Given the description of an element on the screen output the (x, y) to click on. 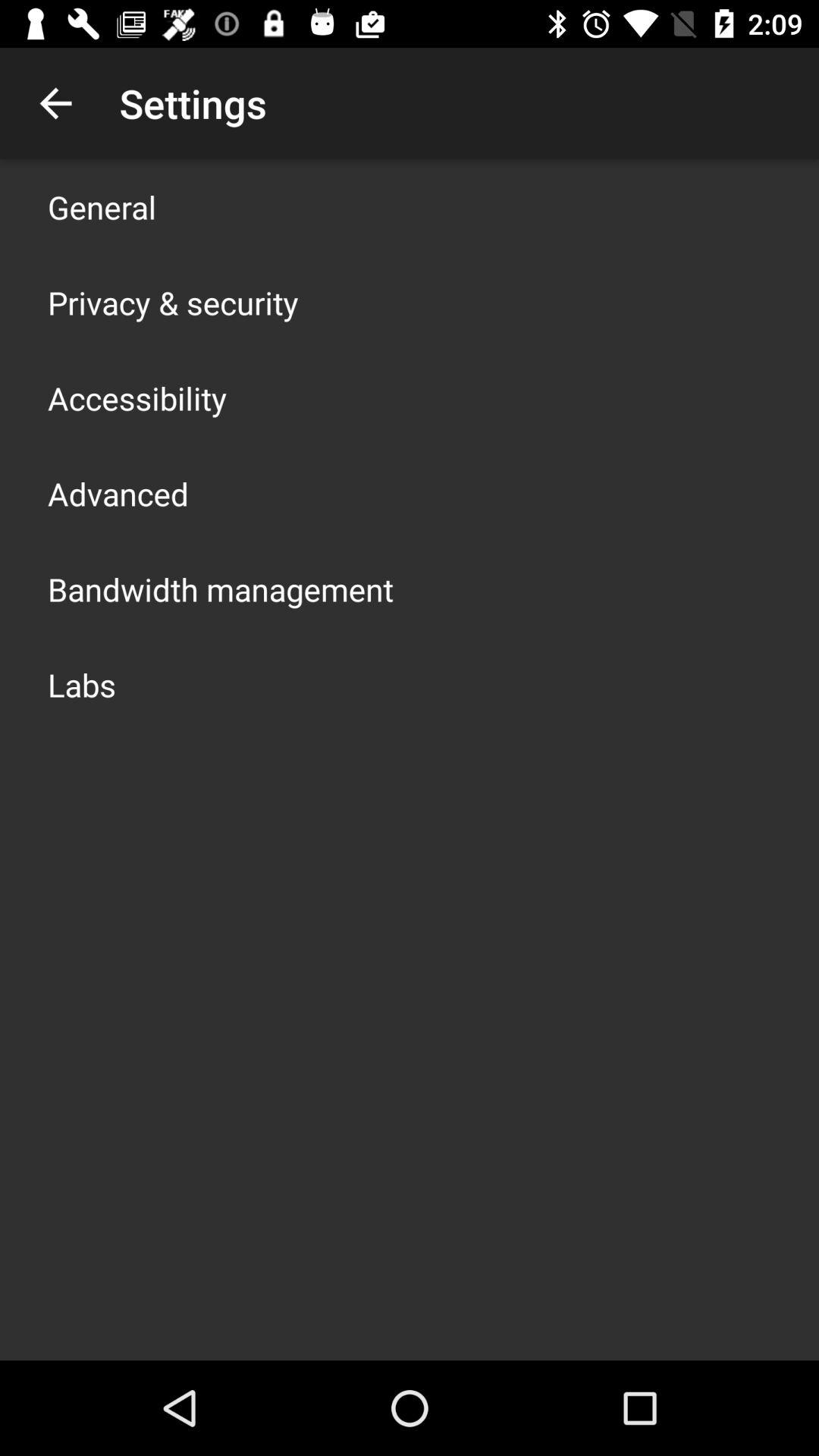
select the app above the advanced (136, 397)
